Given the description of an element on the screen output the (x, y) to click on. 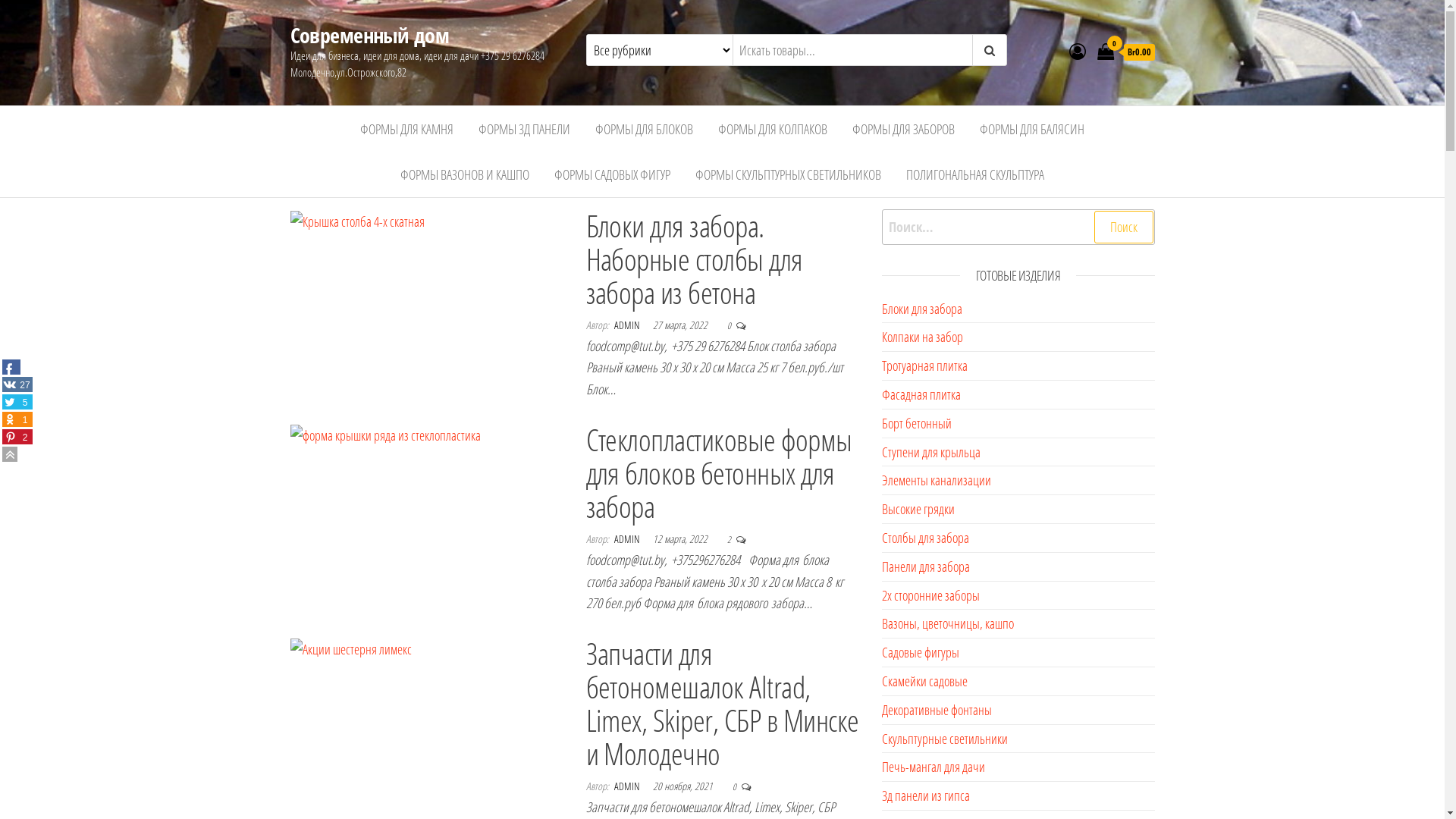
ADMIN Element type: text (627, 324)
ADMIN Element type: text (627, 785)
ADMIN Element type: text (627, 538)
2 Element type: text (728, 539)
0
Br0.00 Element type: text (1125, 52)
0 Element type: text (728, 325)
0 Element type: text (734, 786)
